Given the description of an element on the screen output the (x, y) to click on. 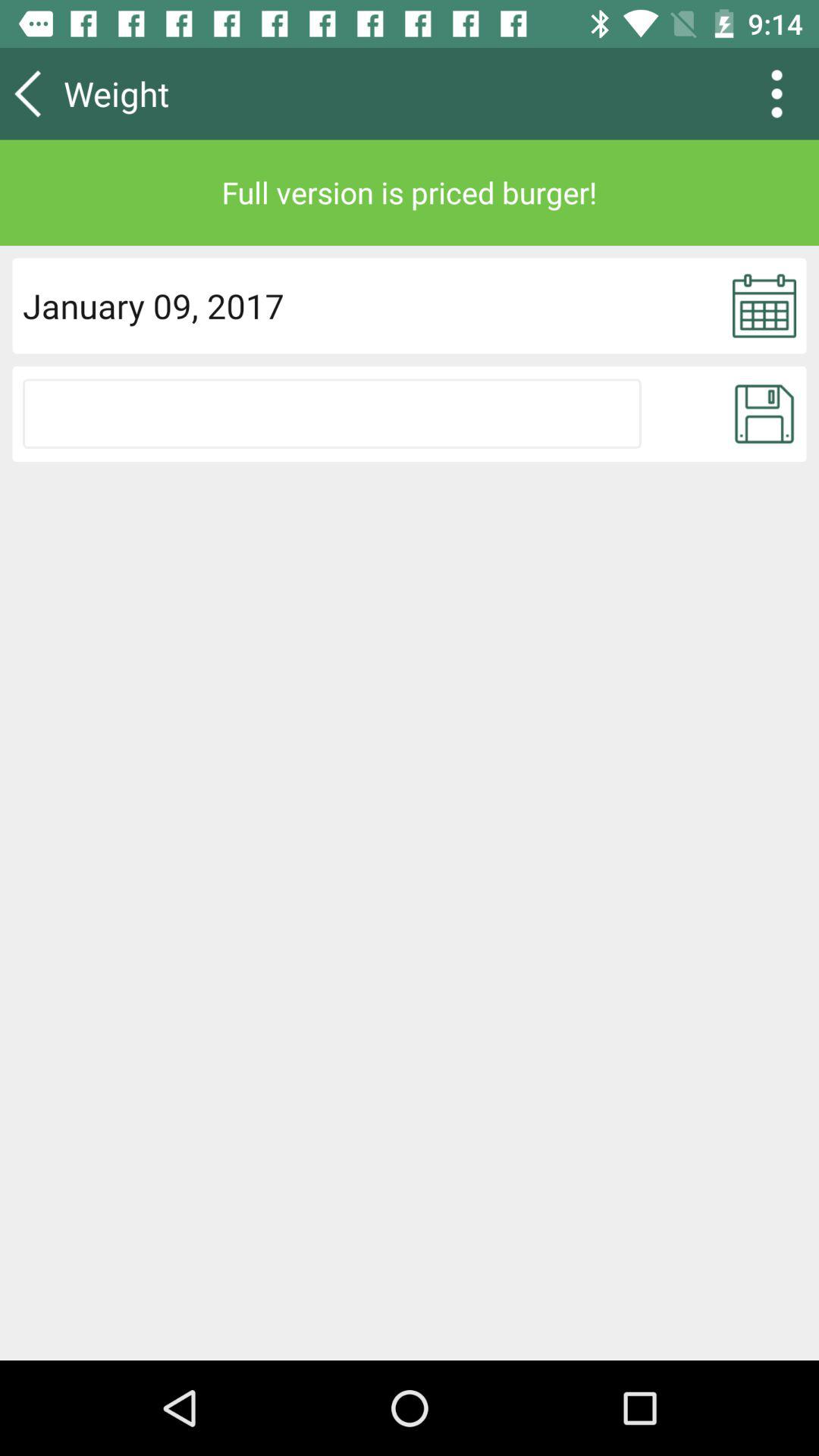
upload option (331, 413)
